Given the description of an element on the screen output the (x, y) to click on. 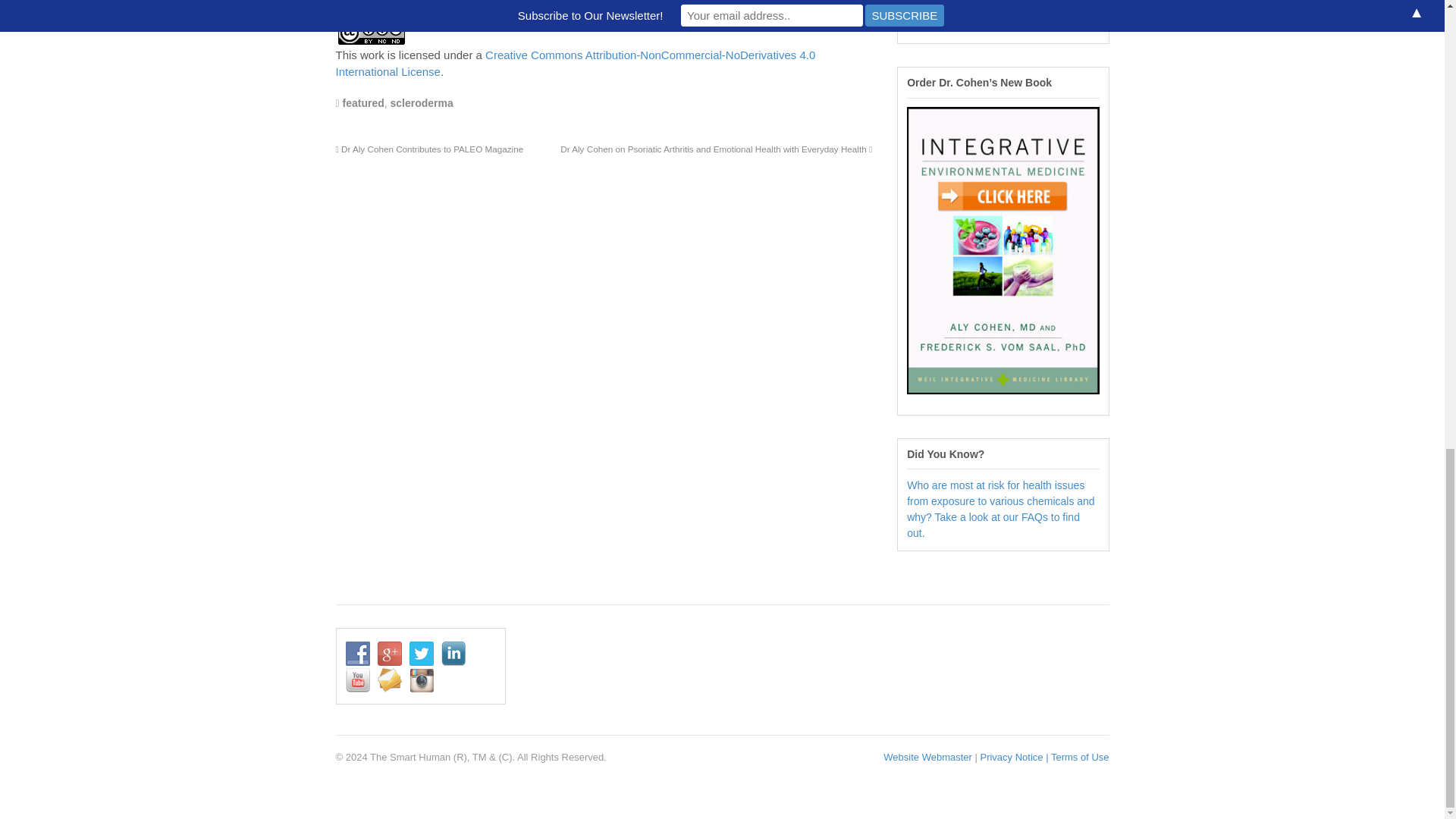
Follow Us on YouTube (1045, 2)
Follow Us on Twitter (982, 2)
Follow Us on LinkedIn (1014, 2)
featured (363, 102)
Follow Us on Facebook (357, 653)
Follow Us on Instagram (919, 19)
Follow Us on E-mail (1077, 2)
Follow Us on Twitter (421, 653)
